Given the description of an element on the screen output the (x, y) to click on. 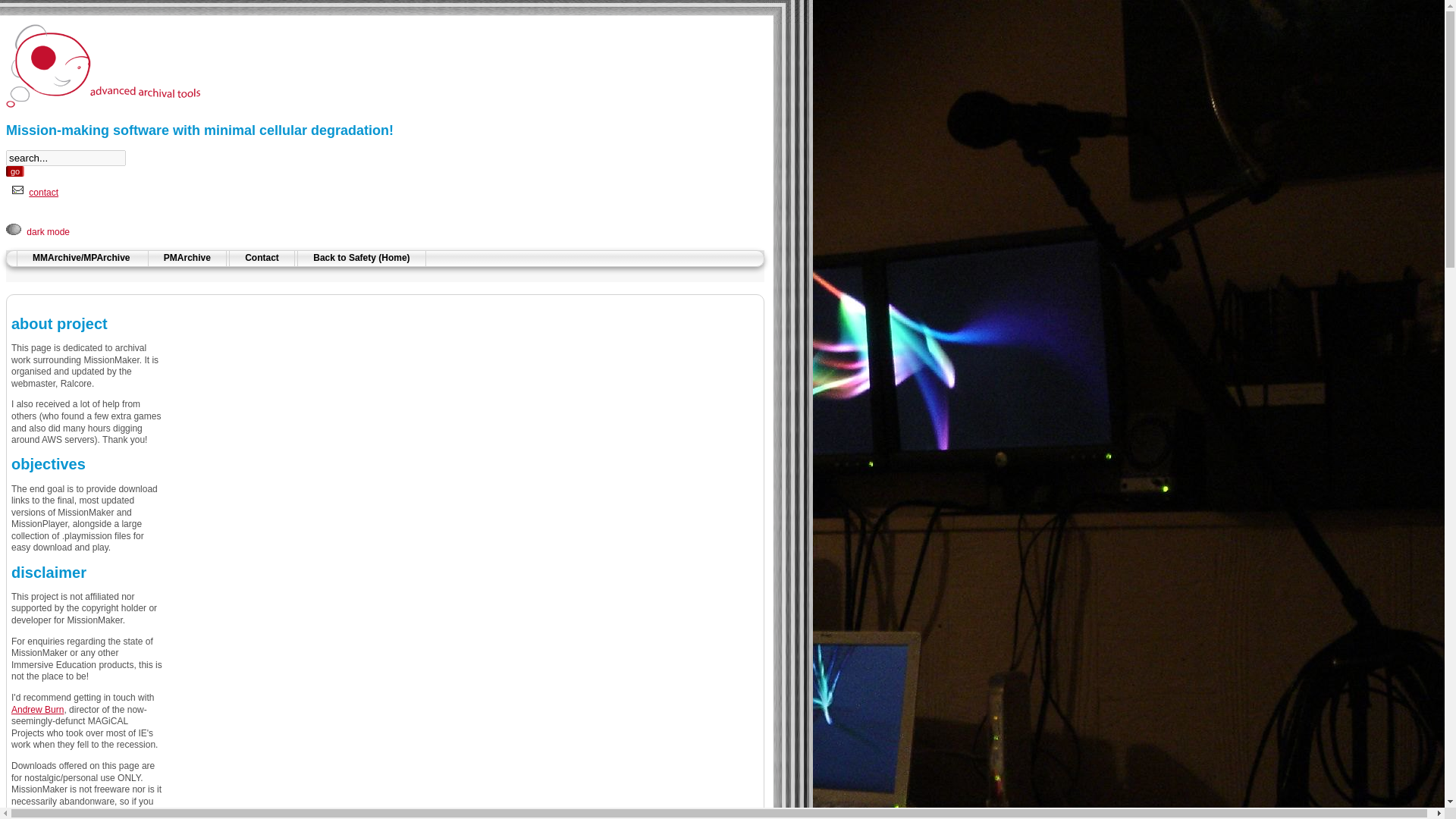
Andrew Burn (37, 709)
Contact (261, 258)
dark mode (47, 231)
contact (43, 192)
go (14, 171)
PMArchive (187, 258)
